Given the description of an element on the screen output the (x, y) to click on. 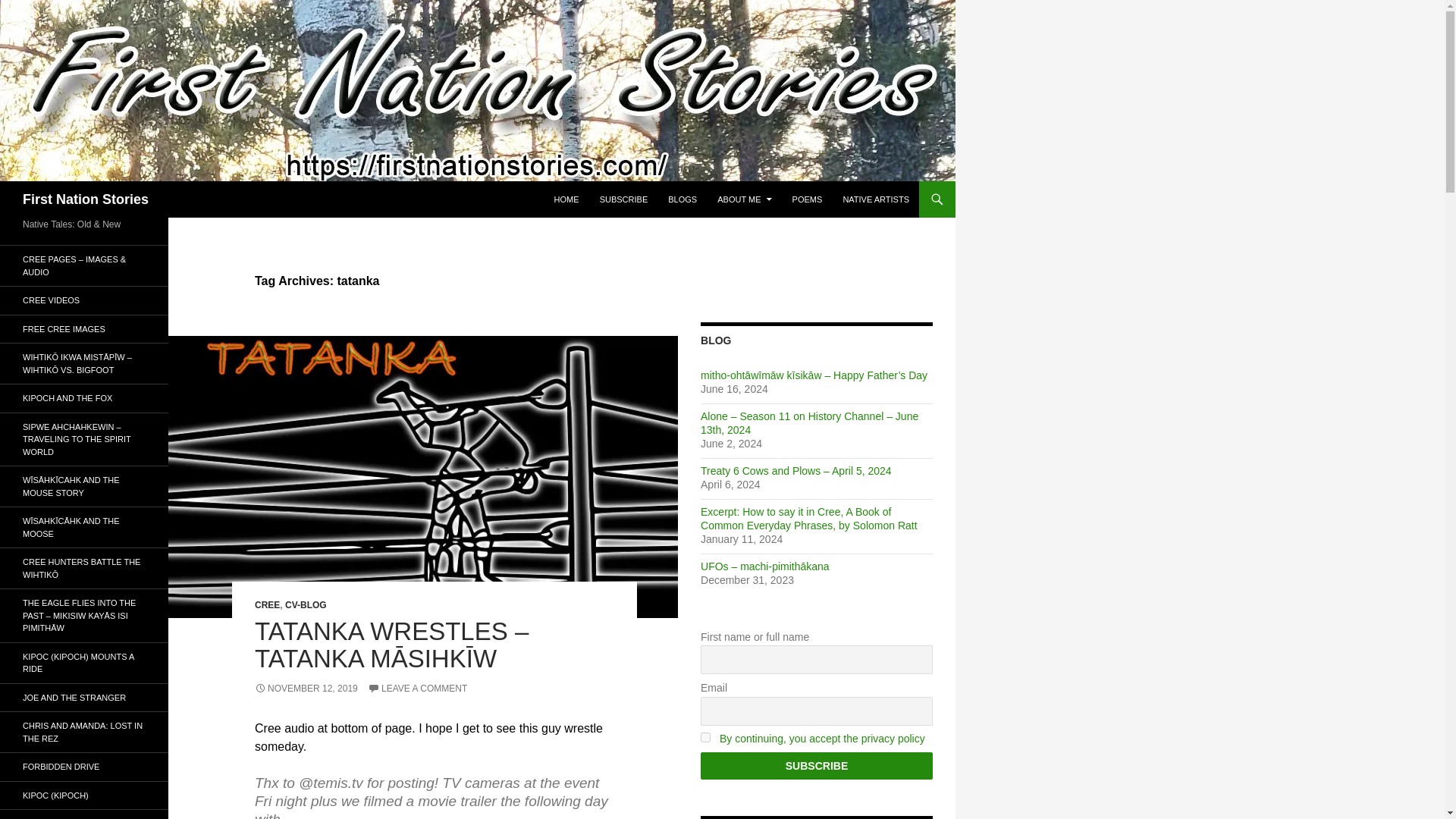
Subscribe (816, 765)
SUBSCRIBE (624, 198)
First Nation Stories (85, 198)
BLOGS (682, 198)
CREE (266, 604)
NOVEMBER 12, 2019 (306, 688)
CV-BLOG (305, 604)
LEAVE A COMMENT (417, 688)
ABOUT ME (743, 198)
on (705, 737)
HOME (566, 198)
NATIVE ARTISTS (875, 198)
POEMS (807, 198)
